Given the description of an element on the screen output the (x, y) to click on. 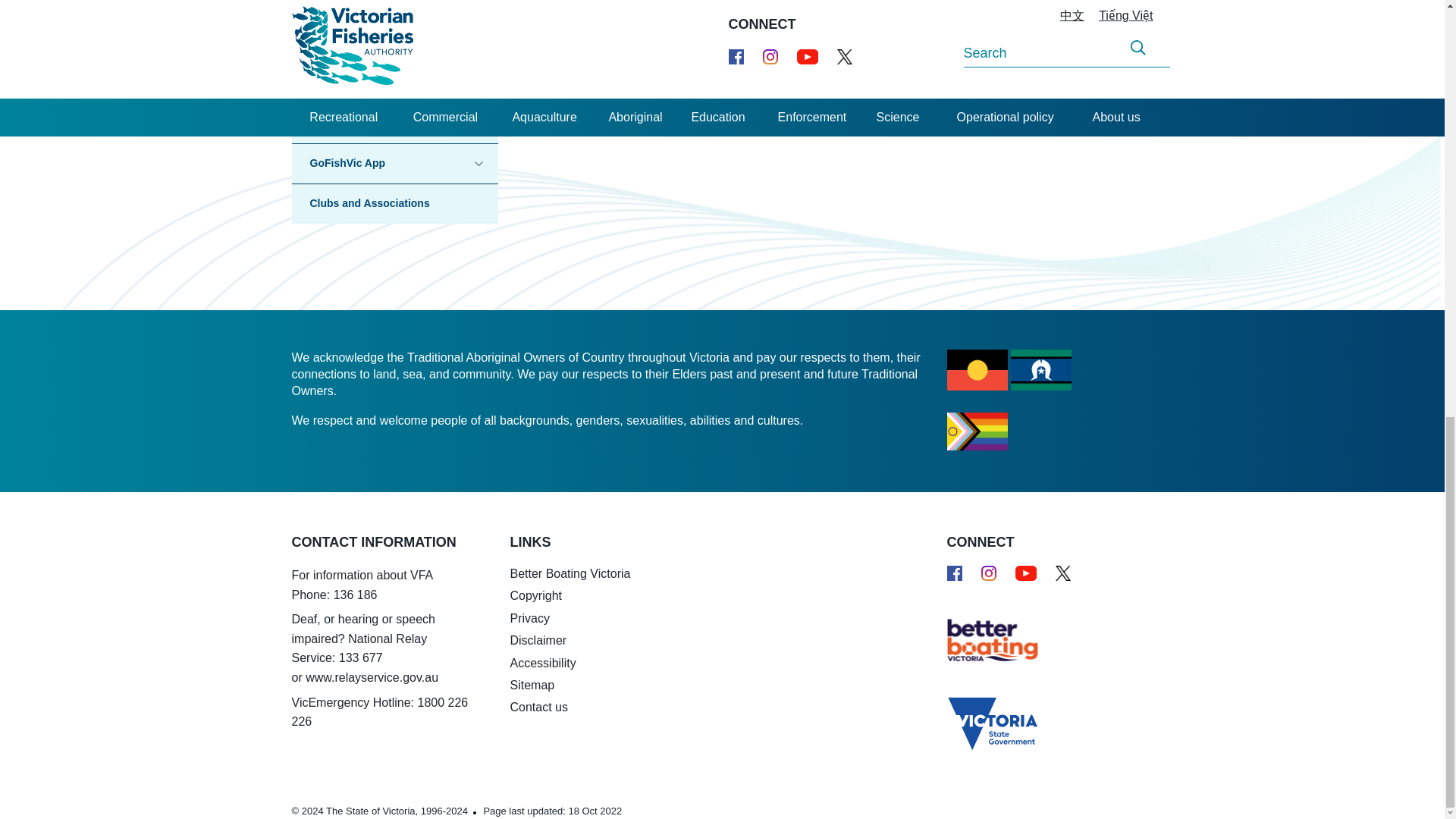
Better Boating Victoria (980, 639)
YouTube (1024, 572)
Instagram (988, 572)
Facebook (953, 572)
VIC State Government (980, 716)
